Given the description of an element on the screen output the (x, y) to click on. 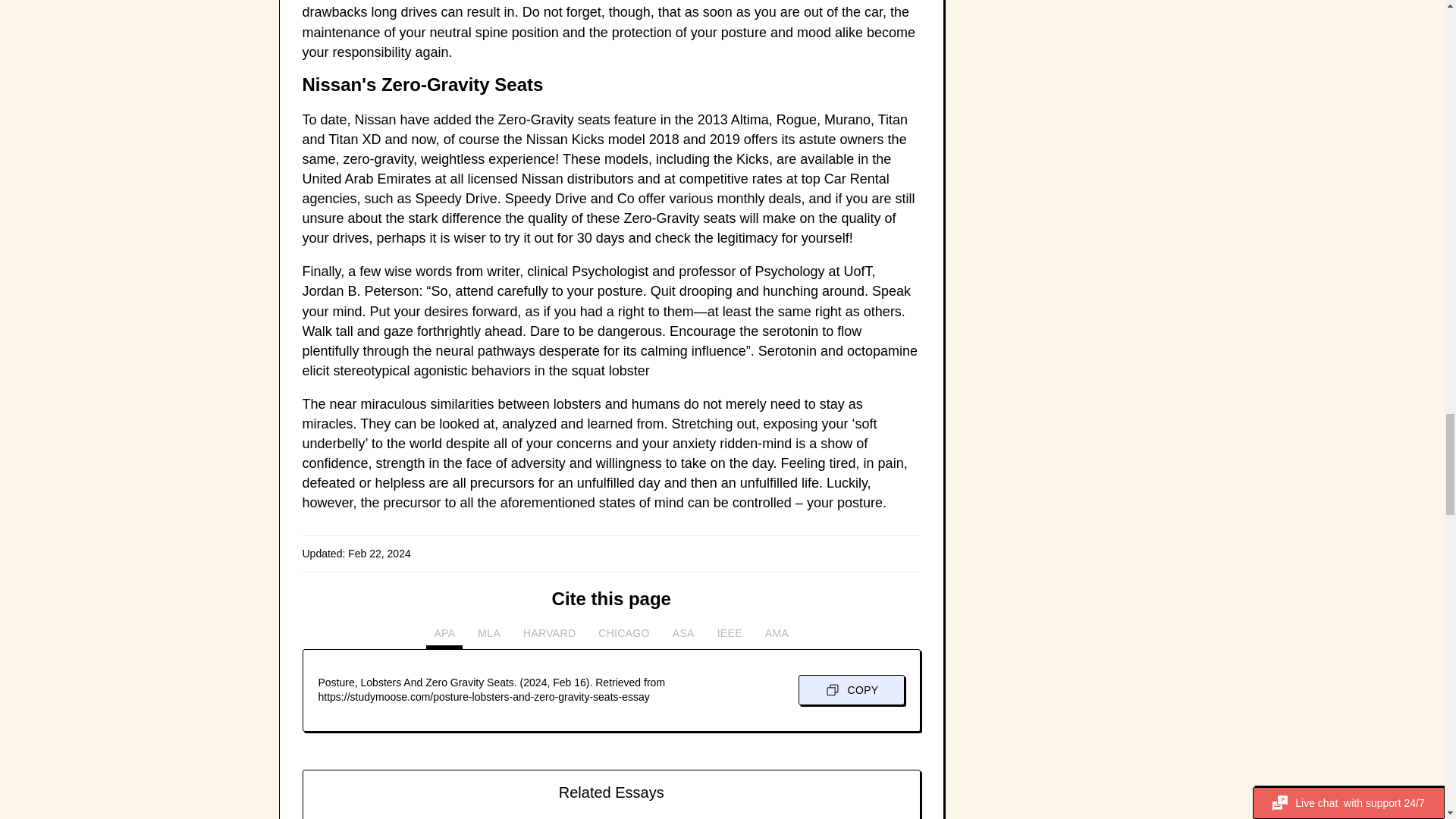
MLA (489, 637)
HARVARD (549, 637)
APA (444, 637)
